Given the description of an element on the screen output the (x, y) to click on. 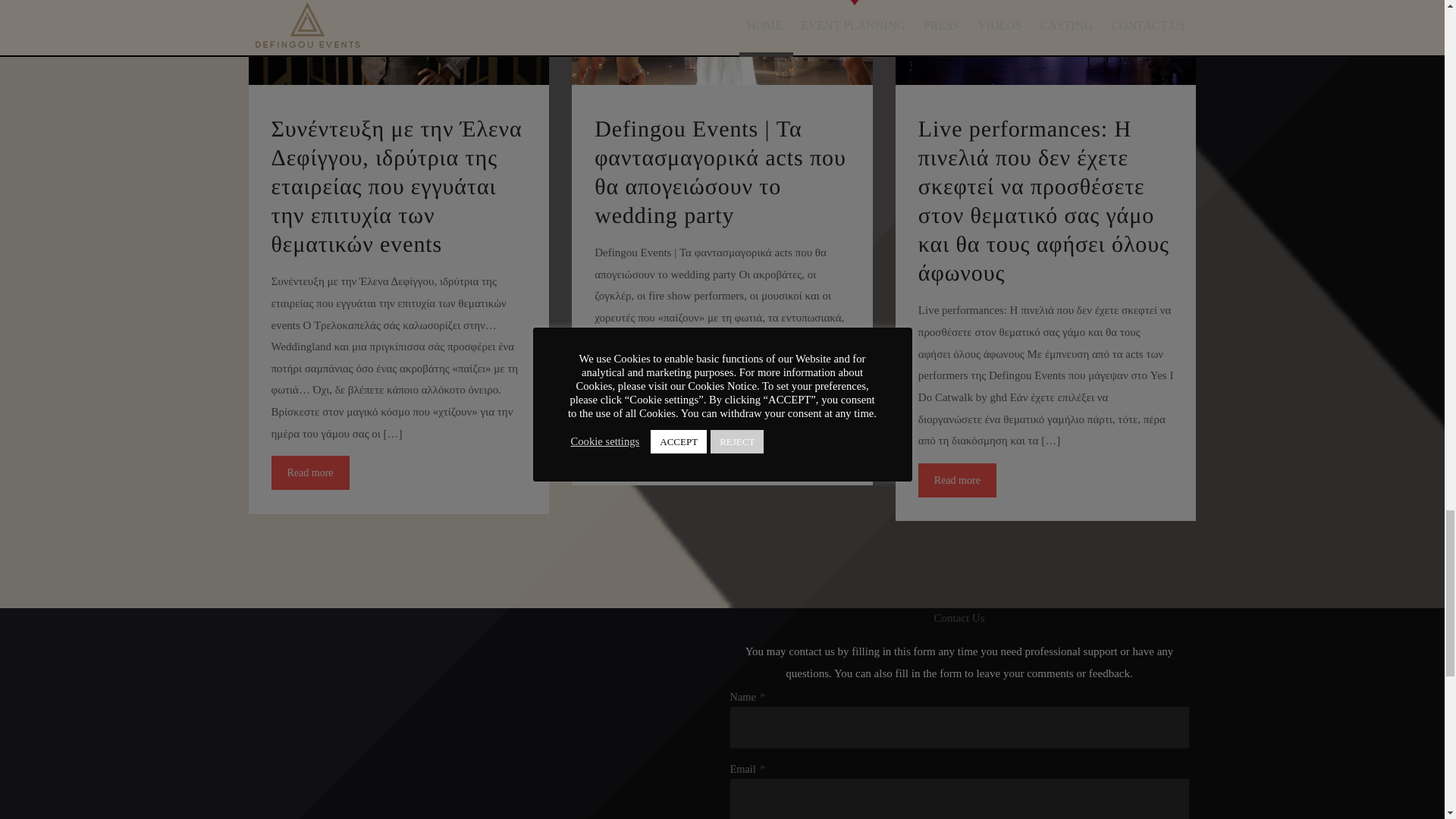
Read more (309, 472)
Read more (956, 480)
Read more (956, 480)
Read more (309, 472)
Read more (633, 443)
Read more (633, 443)
